Given the description of an element on the screen output the (x, y) to click on. 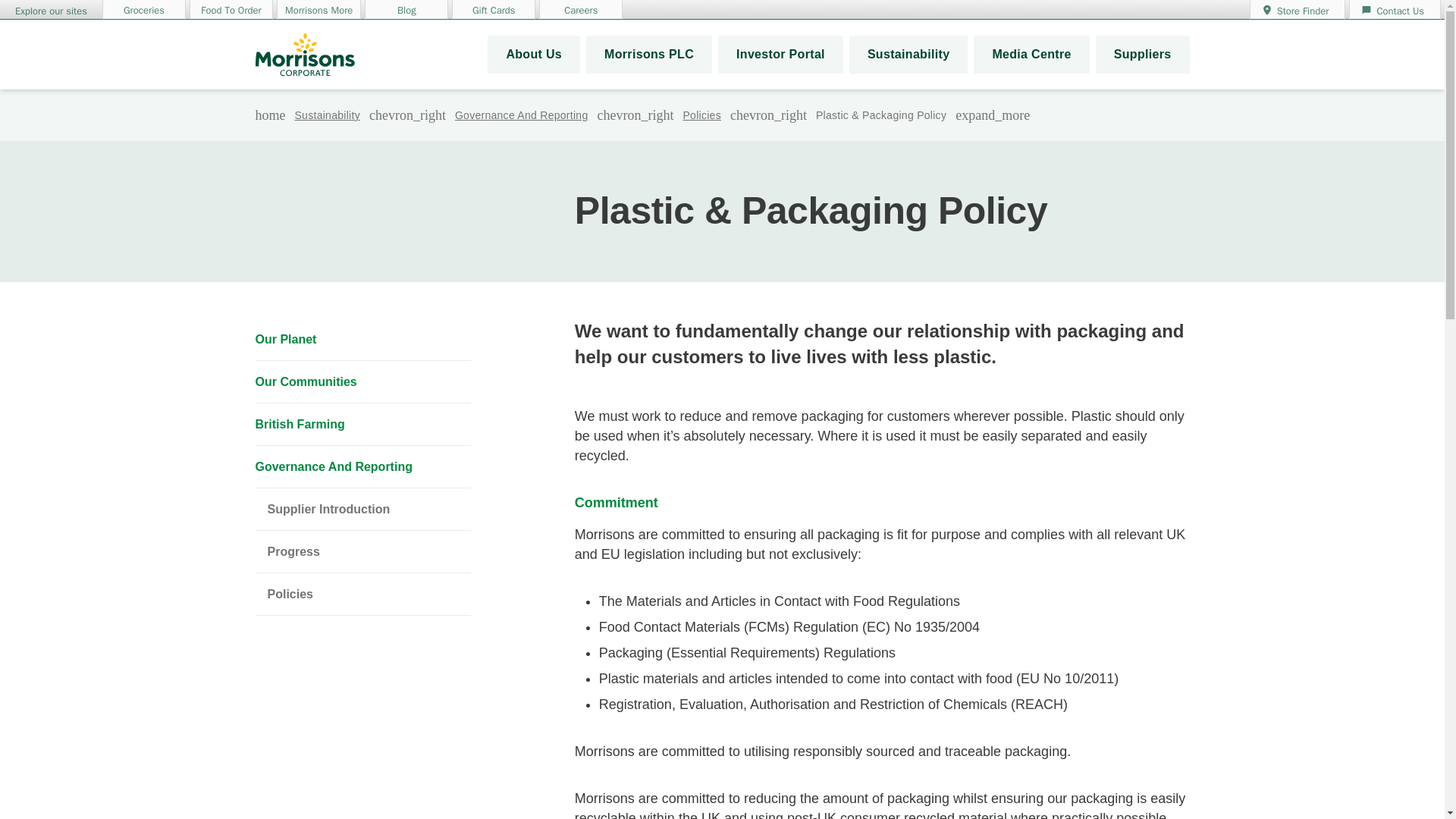
Groceries (143, 9)
Gift Cards (493, 9)
Food To Order (231, 9)
Morrisons More (318, 9)
Careers (580, 9)
Suppliers (1142, 54)
About Us (533, 54)
Morrisons PLC (648, 54)
Sustainability (908, 54)
Media Centre (1031, 54)
